Given the description of an element on the screen output the (x, y) to click on. 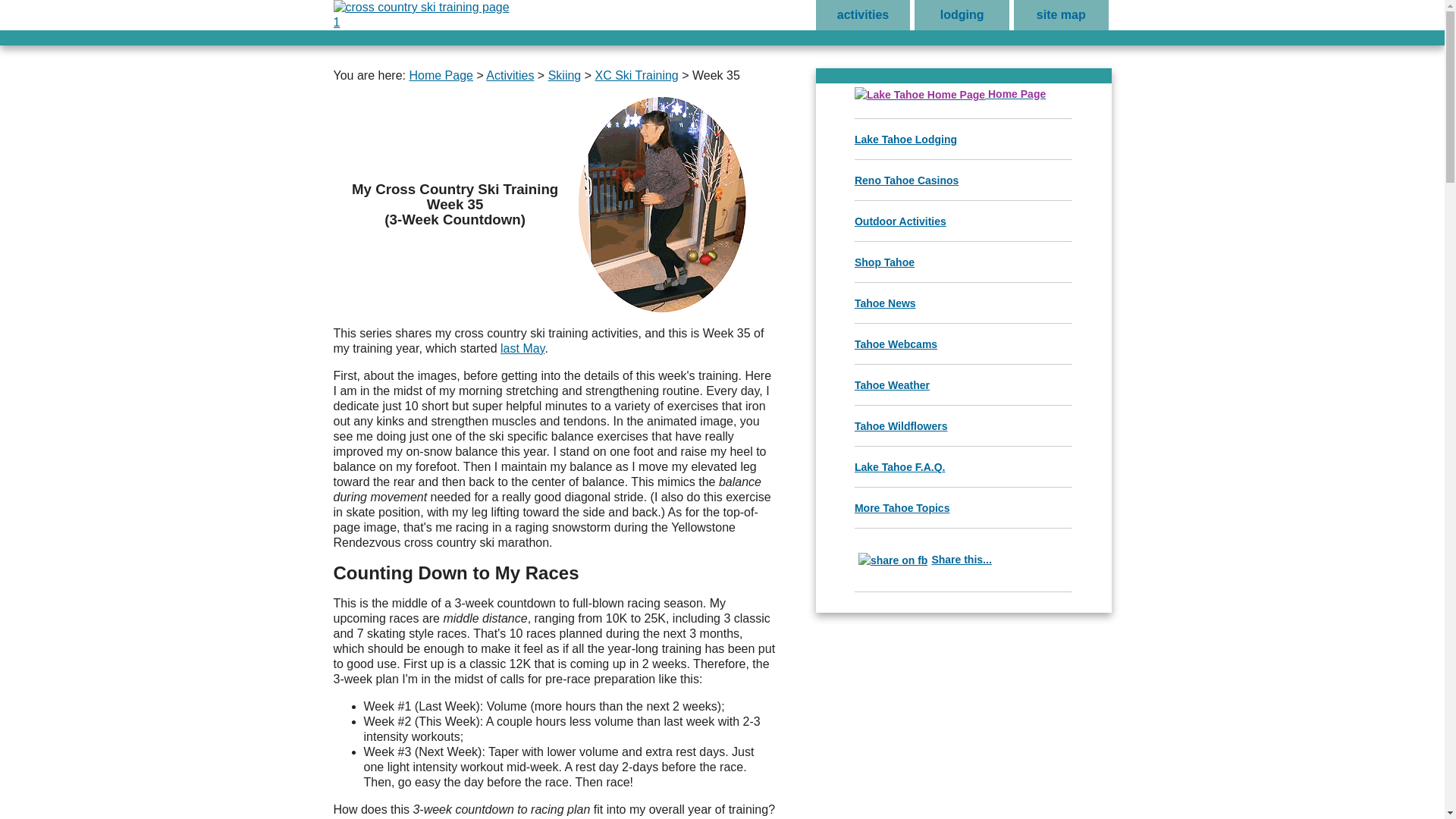
Skiing (564, 74)
site map (1060, 15)
Home Page (949, 93)
lodging (961, 15)
XC Ski Training (636, 74)
Share this... (922, 558)
Tahoe Home Page (949, 93)
activities (863, 15)
Outdoor Activities (900, 221)
last May (522, 348)
Shop Tahoe (884, 262)
Reno Tahoe Casinos (906, 180)
Lake Tahoe F.A.Q. (899, 467)
Activities (510, 74)
Home Page (441, 74)
